Given the description of an element on the screen output the (x, y) to click on. 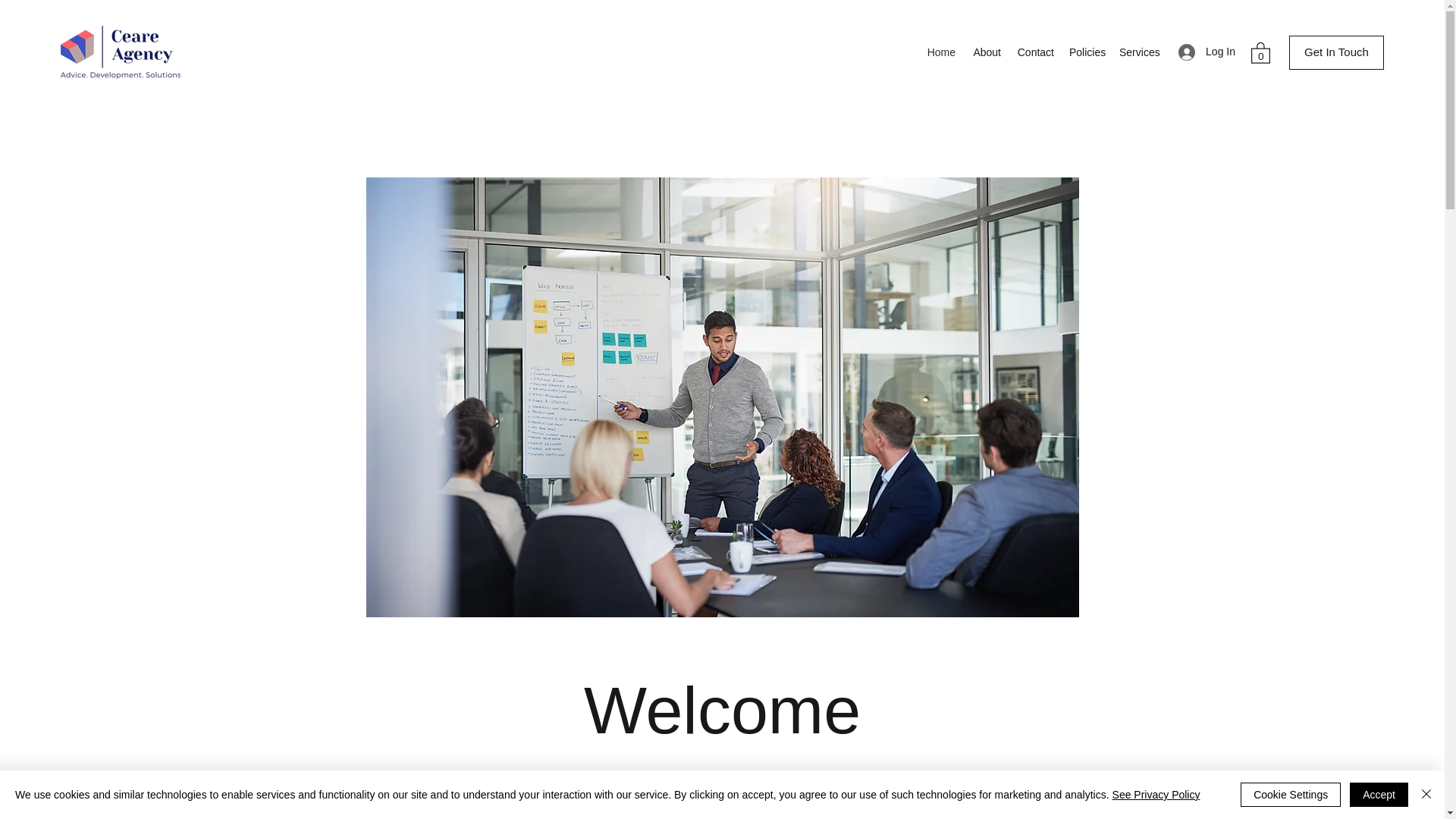
About (985, 51)
Contact (1035, 51)
See Privacy Policy (1155, 794)
Policies (1086, 51)
Services (1139, 51)
Cookie Settings (1290, 794)
Log In (1206, 51)
Accept (1378, 794)
Home (940, 51)
